Given the description of an element on the screen output the (x, y) to click on. 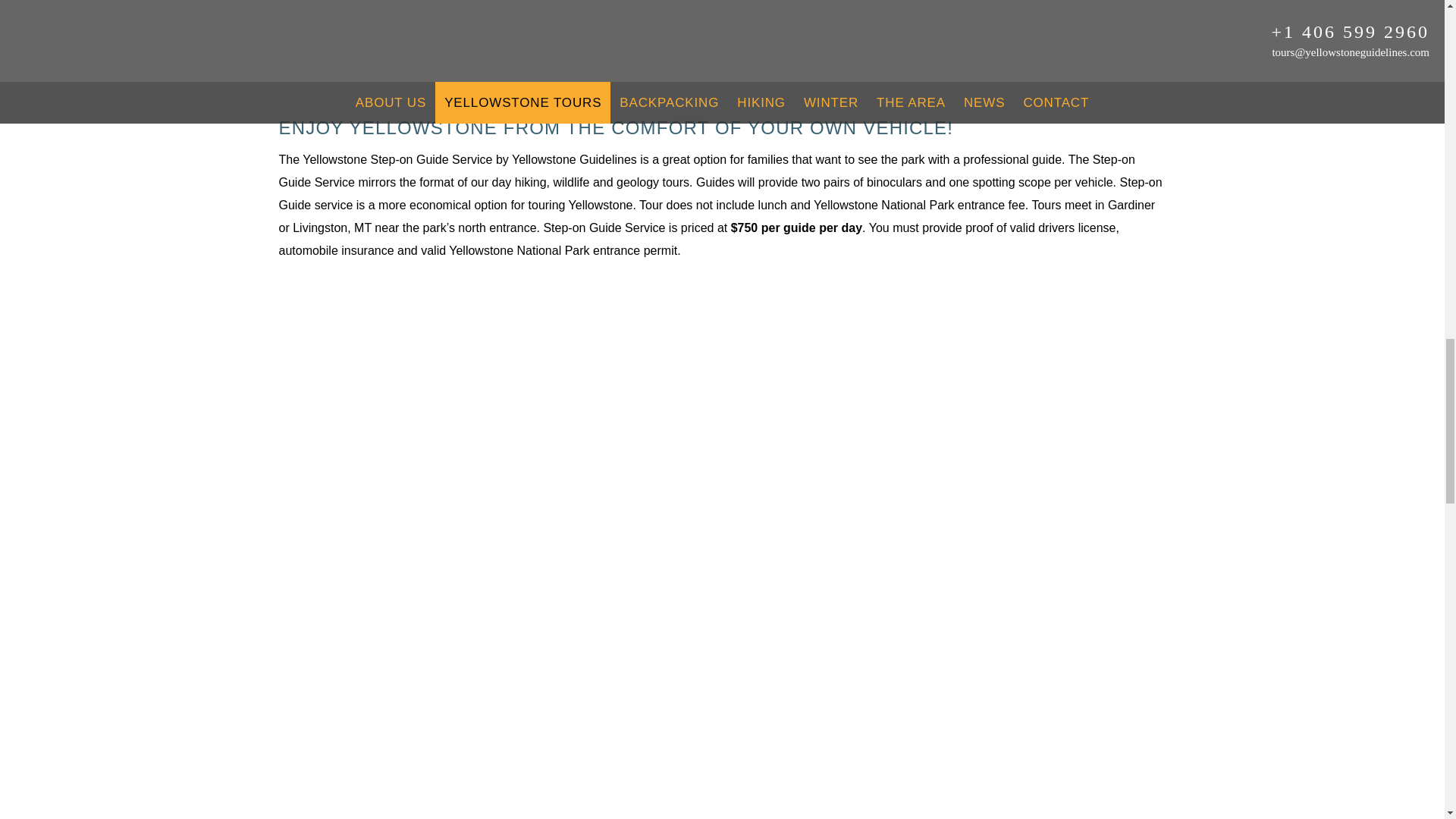
Roosevelt Arch - Yellowstone  Park (722, 44)
